Given the description of an element on the screen output the (x, y) to click on. 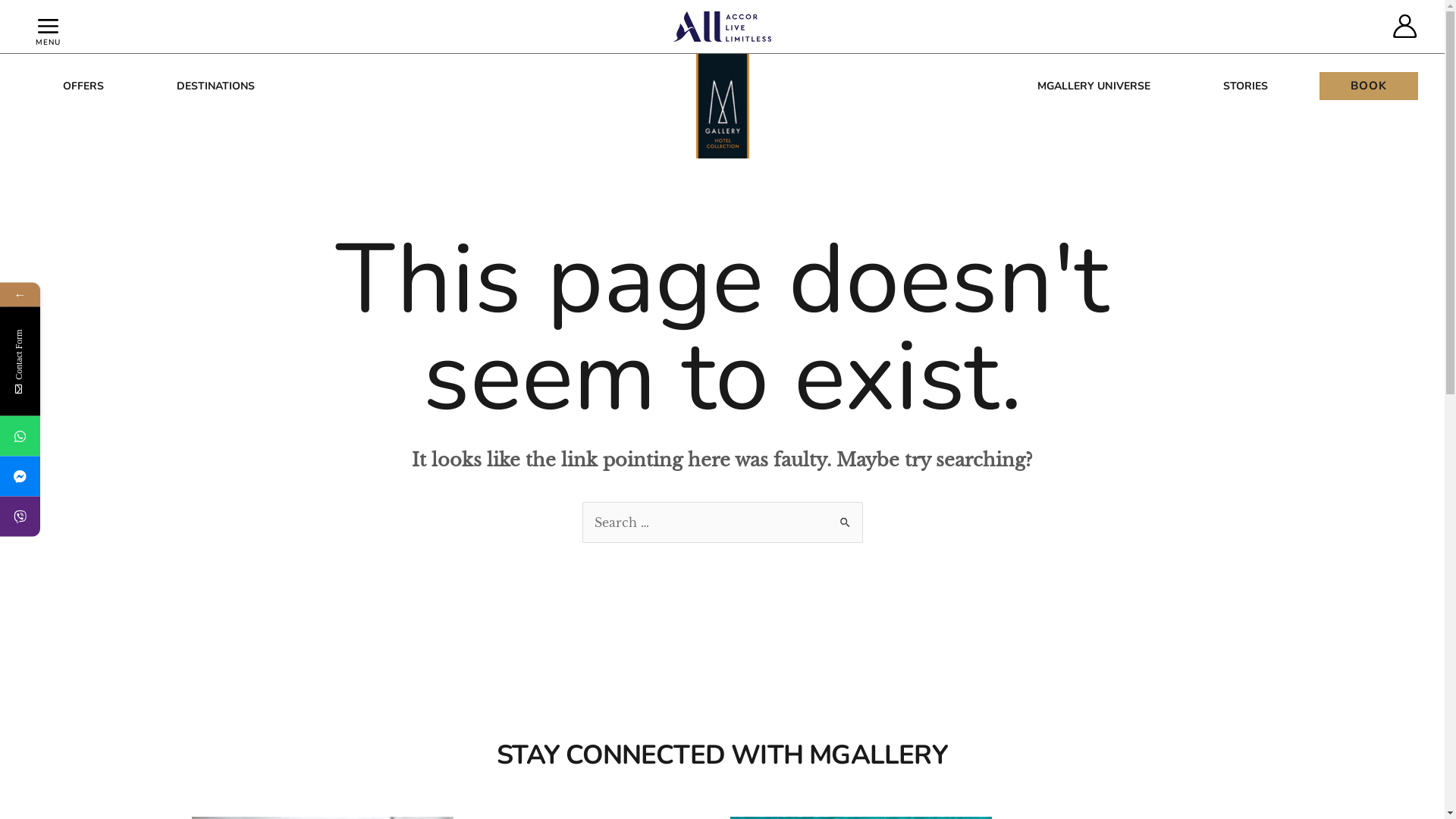
Send Element type: text (196, 594)
OFFERS Element type: text (83, 85)
DESTINATIONS Element type: text (215, 85)
WhatsApp Element type: text (92, 435)
+38761263456 Element type: hover (20, 435)
38761263456 Element type: hover (20, 515)
STORIES Element type: text (1245, 85)
mgallerysarajevo Element type: hover (20, 476)
Viber Element type: text (92, 515)
Facebook Messenger Element type: text (93, 476)
MAIN MENU
MENU Element type: text (47, 26)
BOOK Element type: text (1368, 86)
MGALLERY UNIVERSE Element type: text (1093, 85)
Search Element type: text (845, 517)
